Given the description of an element on the screen output the (x, y) to click on. 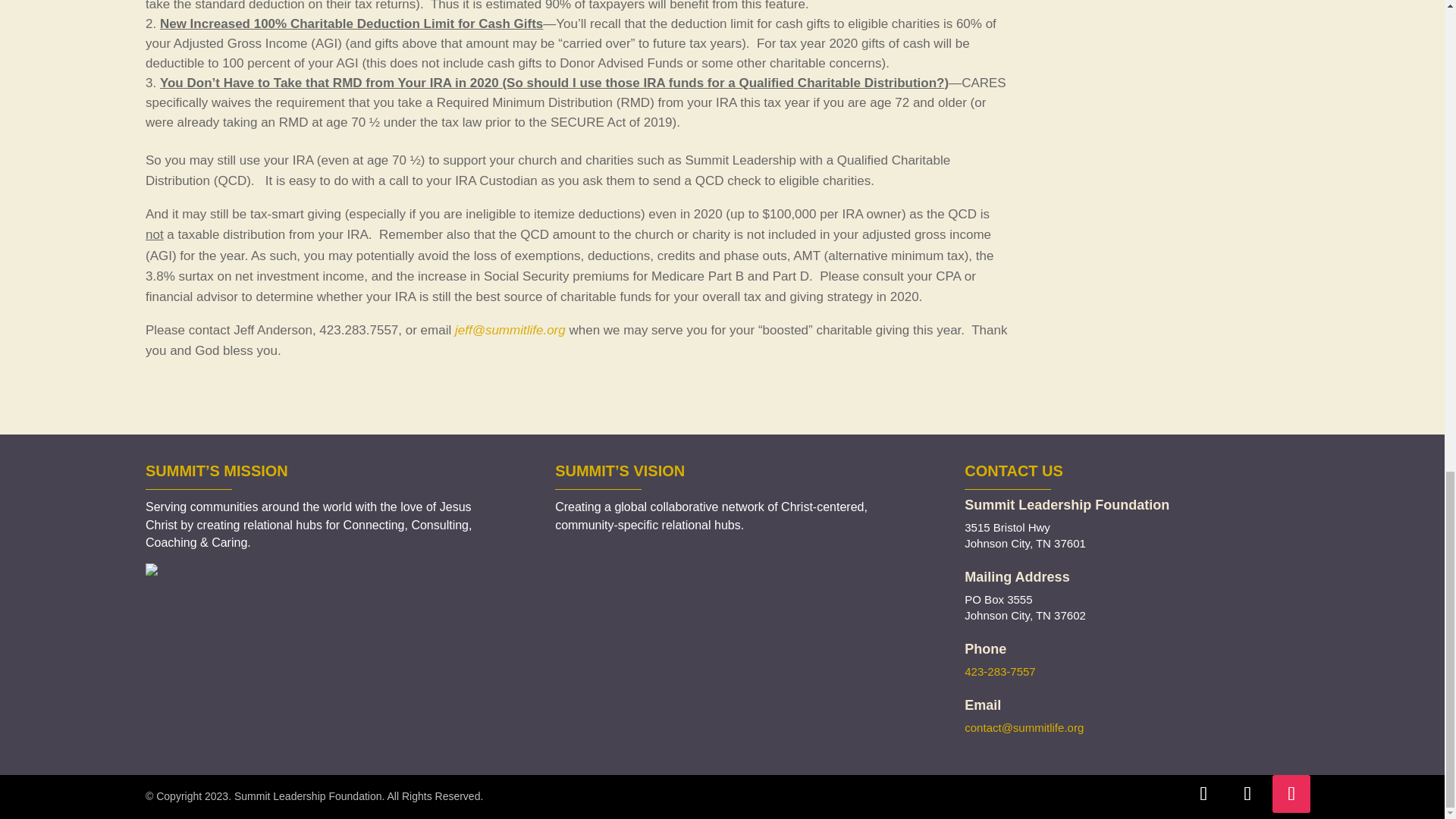
Follow on Instagram (1291, 793)
Follow on LinkedIn (1247, 793)
Follow on Facebook (1204, 793)
